Given the description of an element on the screen output the (x, y) to click on. 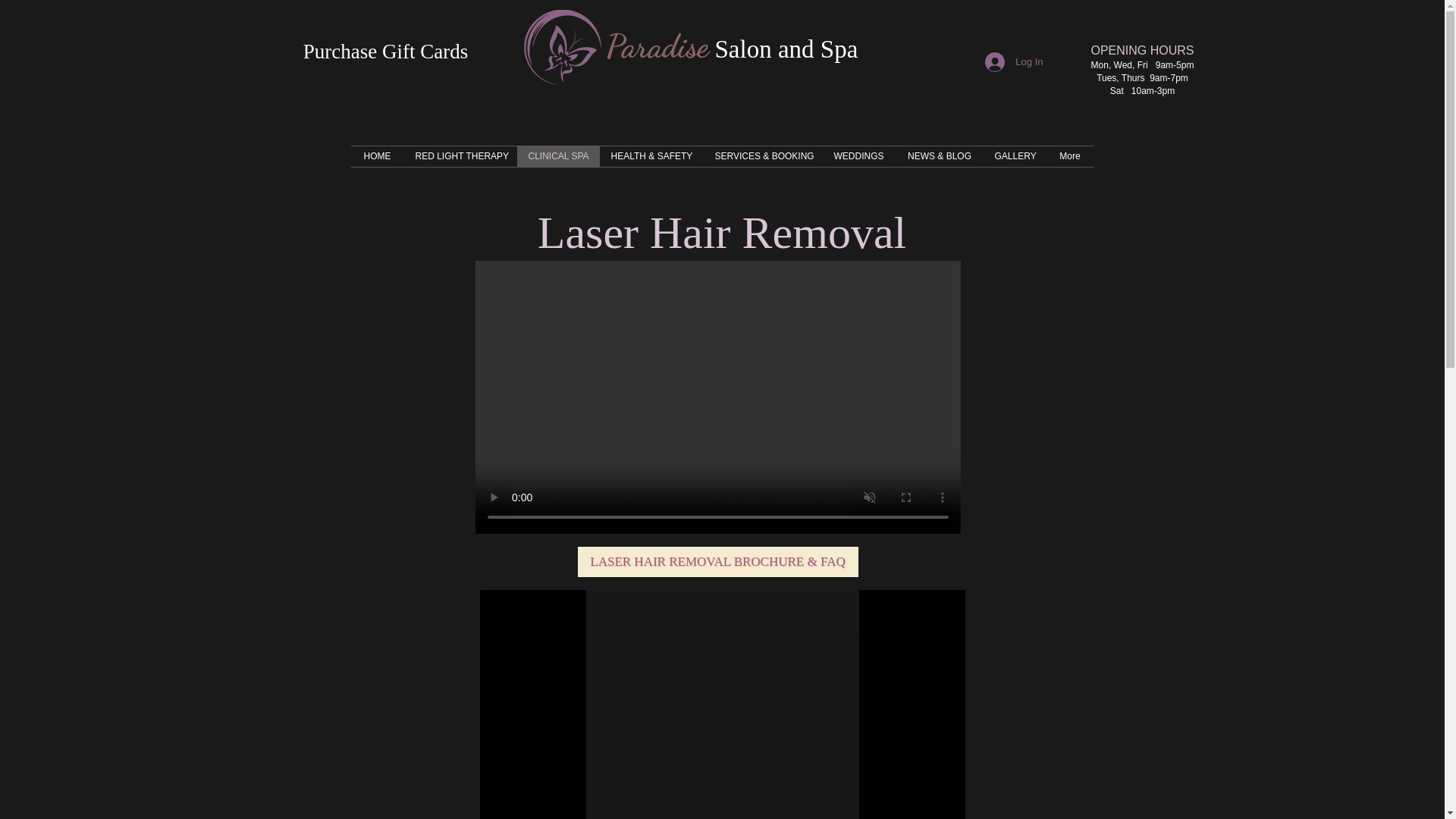
Log In (1013, 61)
GALLERY (1013, 156)
Purchase Gift Cards (385, 51)
WEDDINGS (859, 156)
RED LIGHT THERAPY (459, 156)
Salon and Spa (785, 49)
CLINICAL SPA (557, 156)
HOME (376, 156)
